Given the description of an element on the screen output the (x, y) to click on. 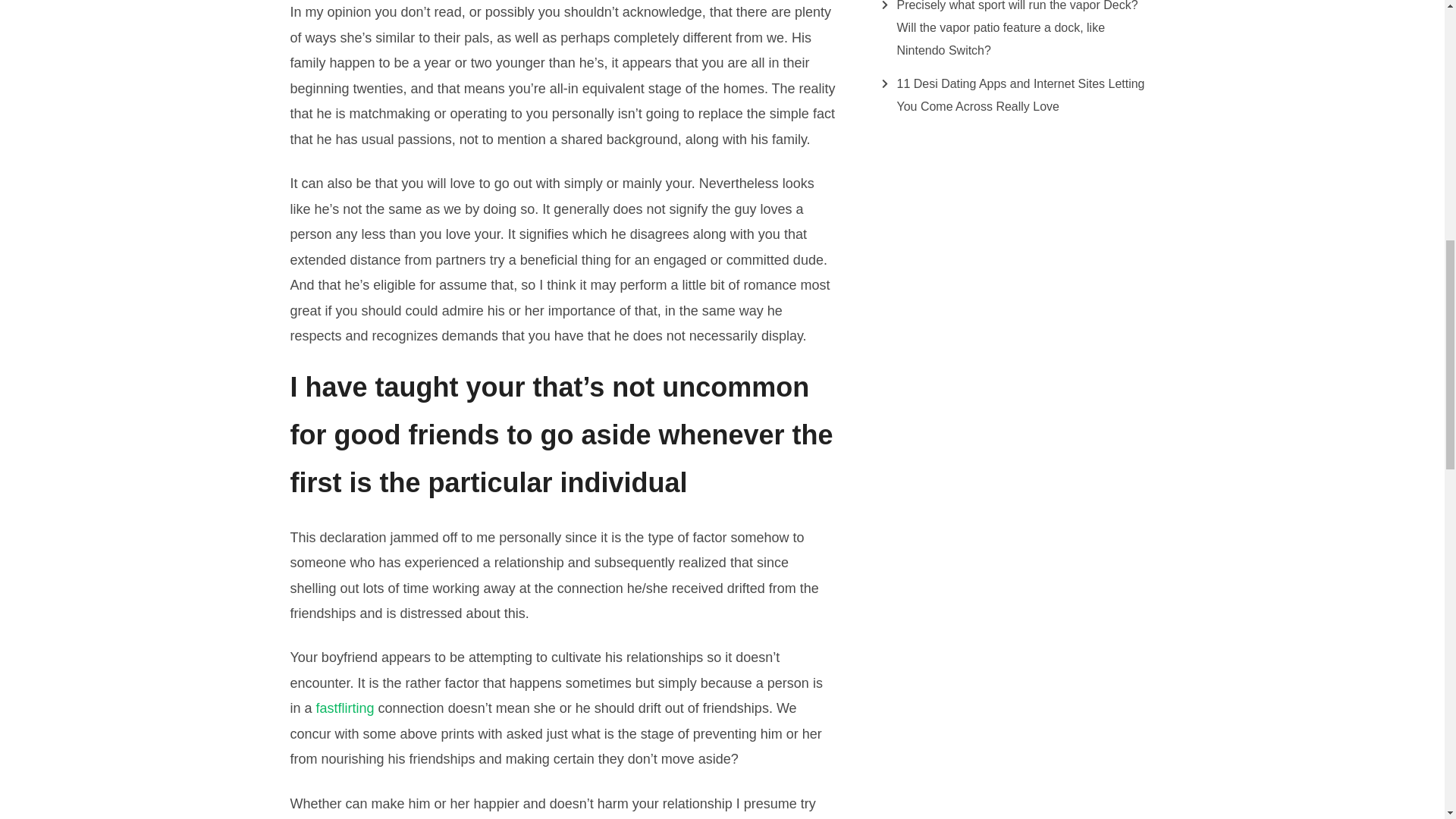
fastflirting (344, 708)
